Given the description of an element on the screen output the (x, y) to click on. 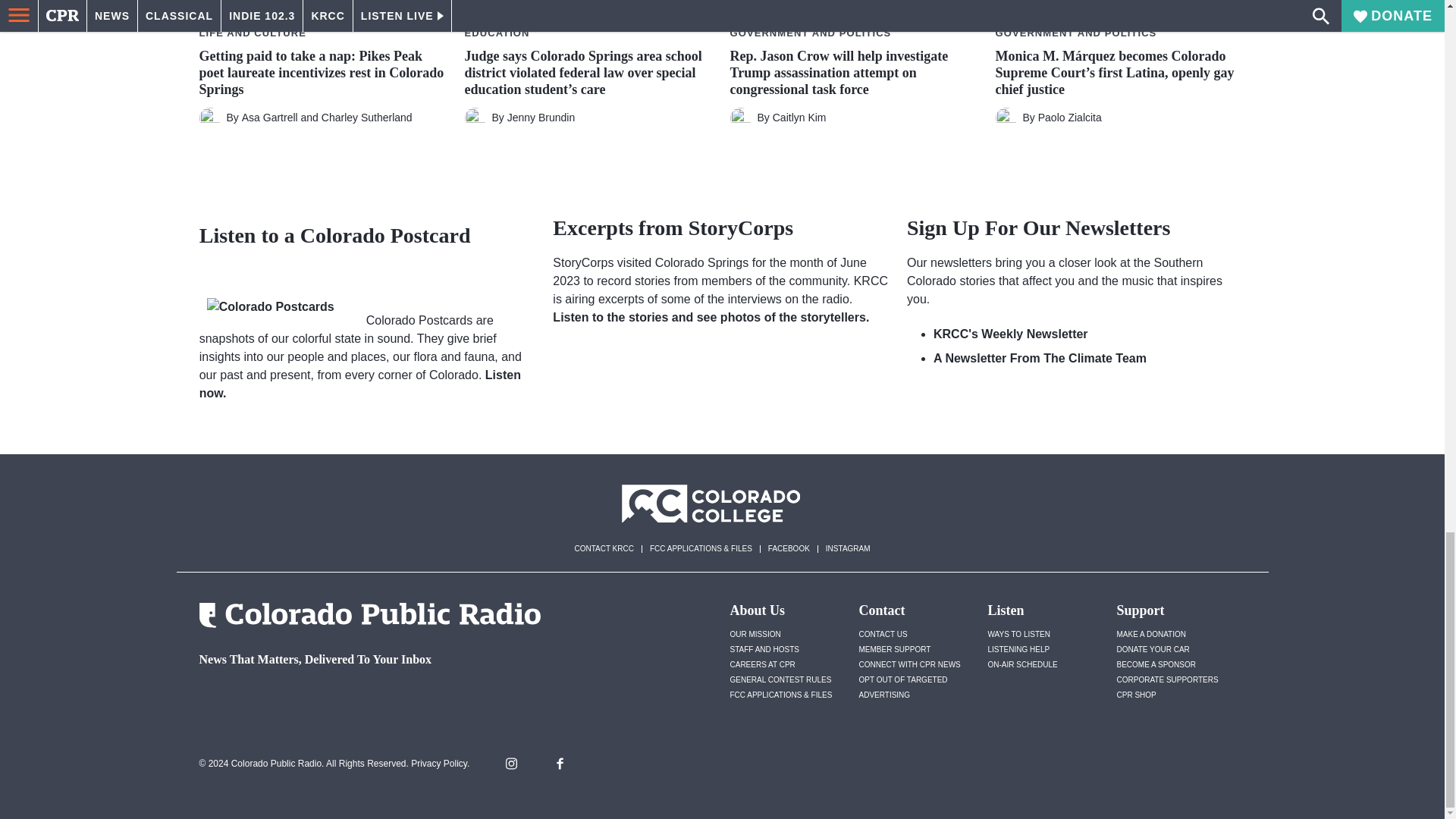
footer (364, 699)
